Given the description of an element on the screen output the (x, y) to click on. 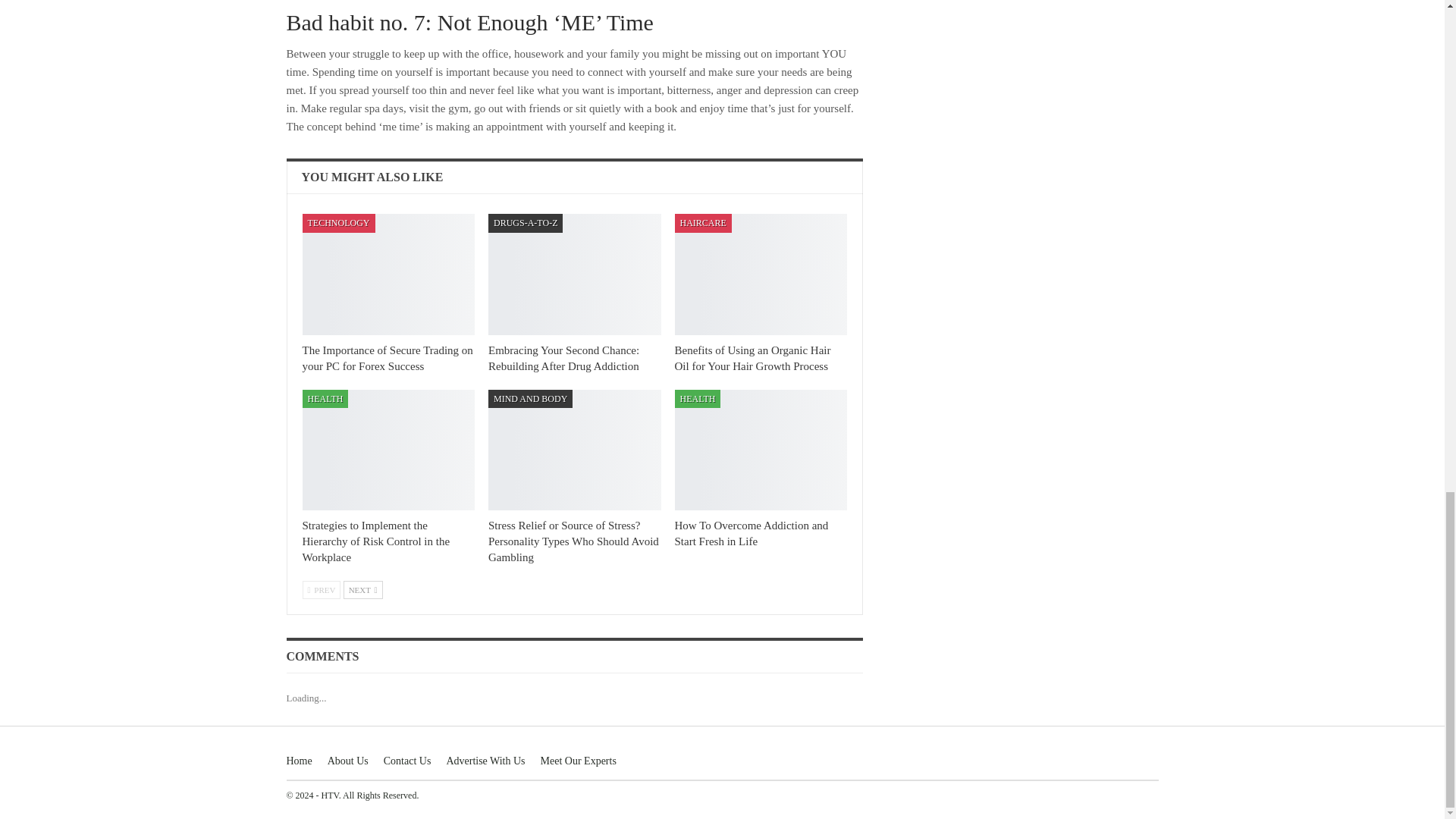
About us (347, 760)
Previous (320, 589)
How To Overcome Addiction and Start Fresh in Life (751, 533)
How To Overcome Addiction and Start Fresh in Life (761, 449)
Homepage (299, 760)
Next (362, 589)
